Given the description of an element on the screen output the (x, y) to click on. 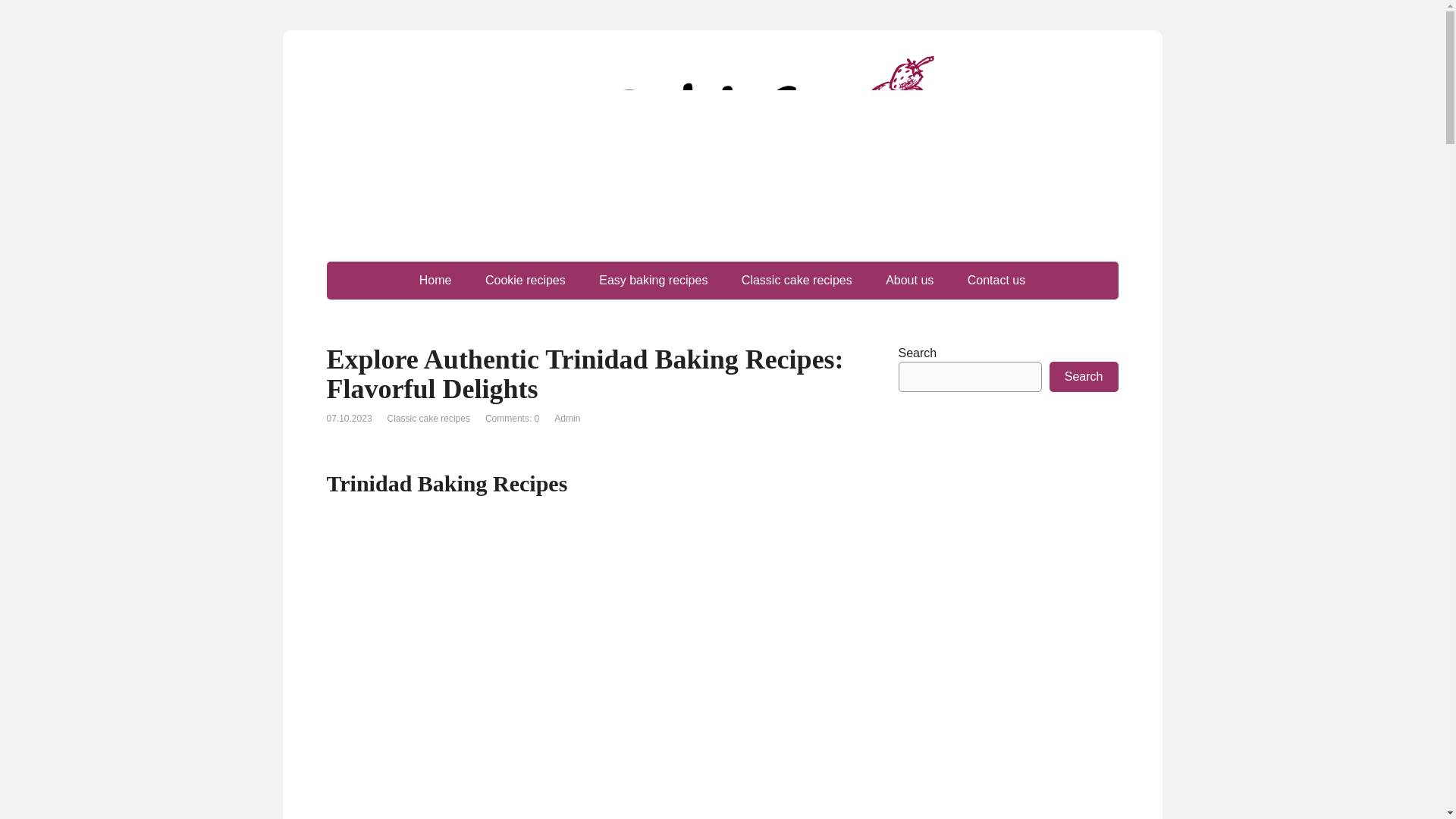
About us (909, 280)
Classic cake recipes (796, 280)
Cookie recipes (525, 280)
Home (435, 280)
Classic cake recipes (428, 418)
Easy baking recipes (652, 280)
Search (1083, 376)
Contact us (996, 280)
Comments: 0 (511, 418)
